Given the description of an element on the screen output the (x, y) to click on. 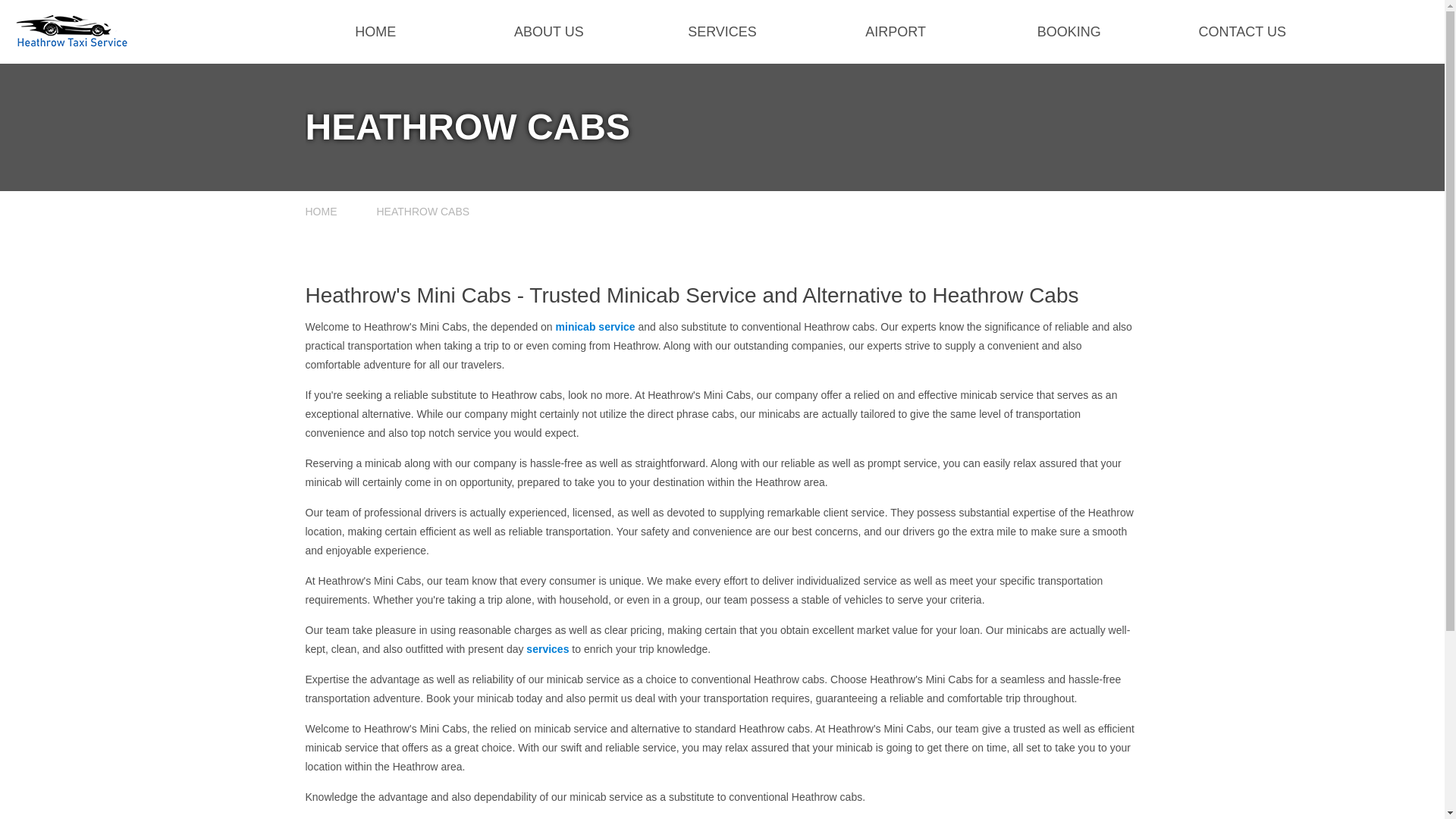
Heathrow Airport Transfers (422, 211)
Heathrow Taxis (549, 31)
HEATHROW CABS (422, 211)
Contact Us (1242, 31)
BOOKING (1068, 31)
Heathrow Airport Transfers (332, 211)
Heathrow Taxis (71, 43)
Heathrow Taxis (375, 31)
minicab service (595, 326)
HOME (375, 31)
Heathrow Taxis (895, 31)
Heathrow Taxis (721, 31)
HOME (332, 211)
ABOUT US (549, 31)
SERVICES (721, 31)
